Given the description of an element on the screen output the (x, y) to click on. 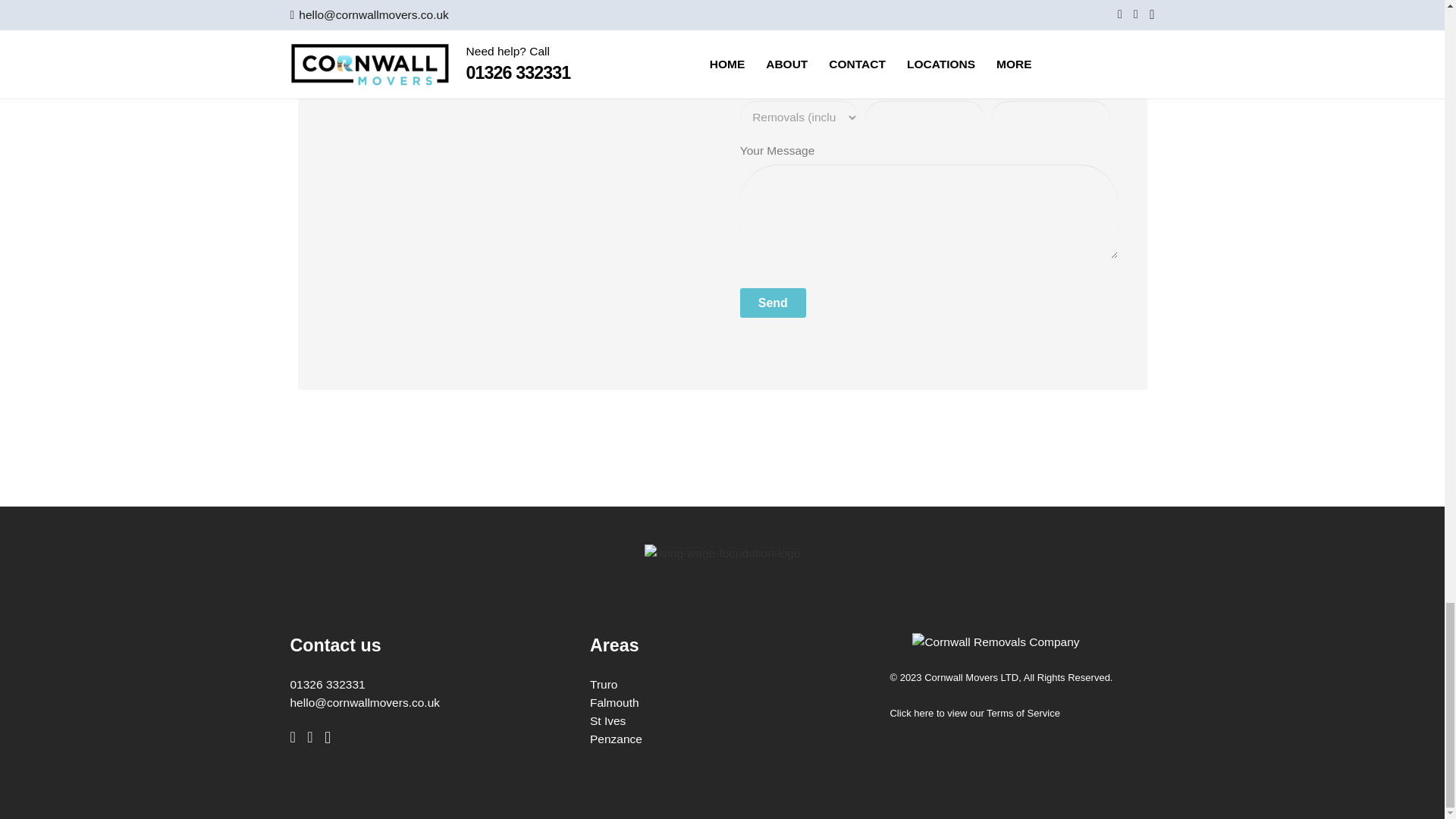
Send (772, 302)
link (721, 553)
